Given the description of an element on the screen output the (x, y) to click on. 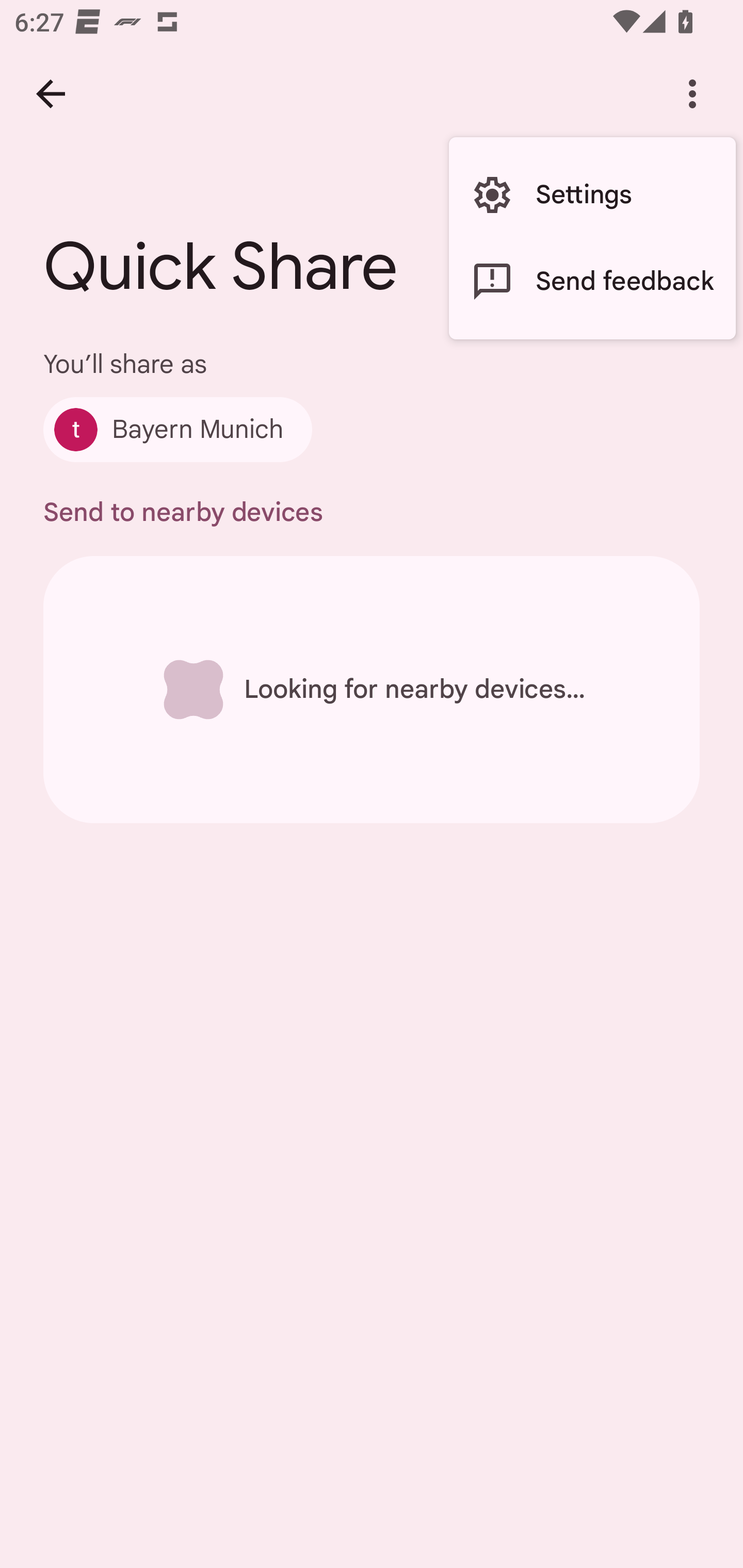
Settings (591, 195)
Send feedback (591, 281)
